Given the description of an element on the screen output the (x, y) to click on. 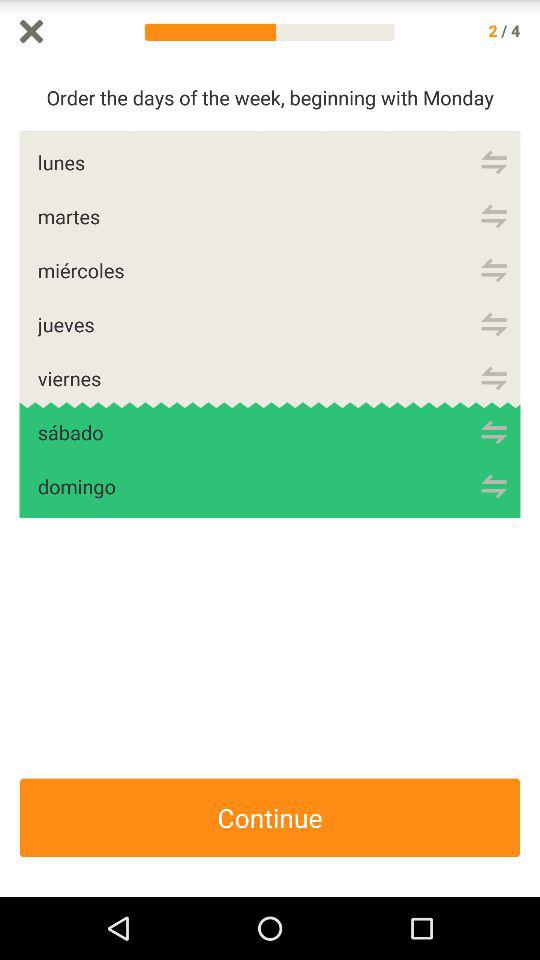
refresh lunes (494, 162)
